Given the description of an element on the screen output the (x, y) to click on. 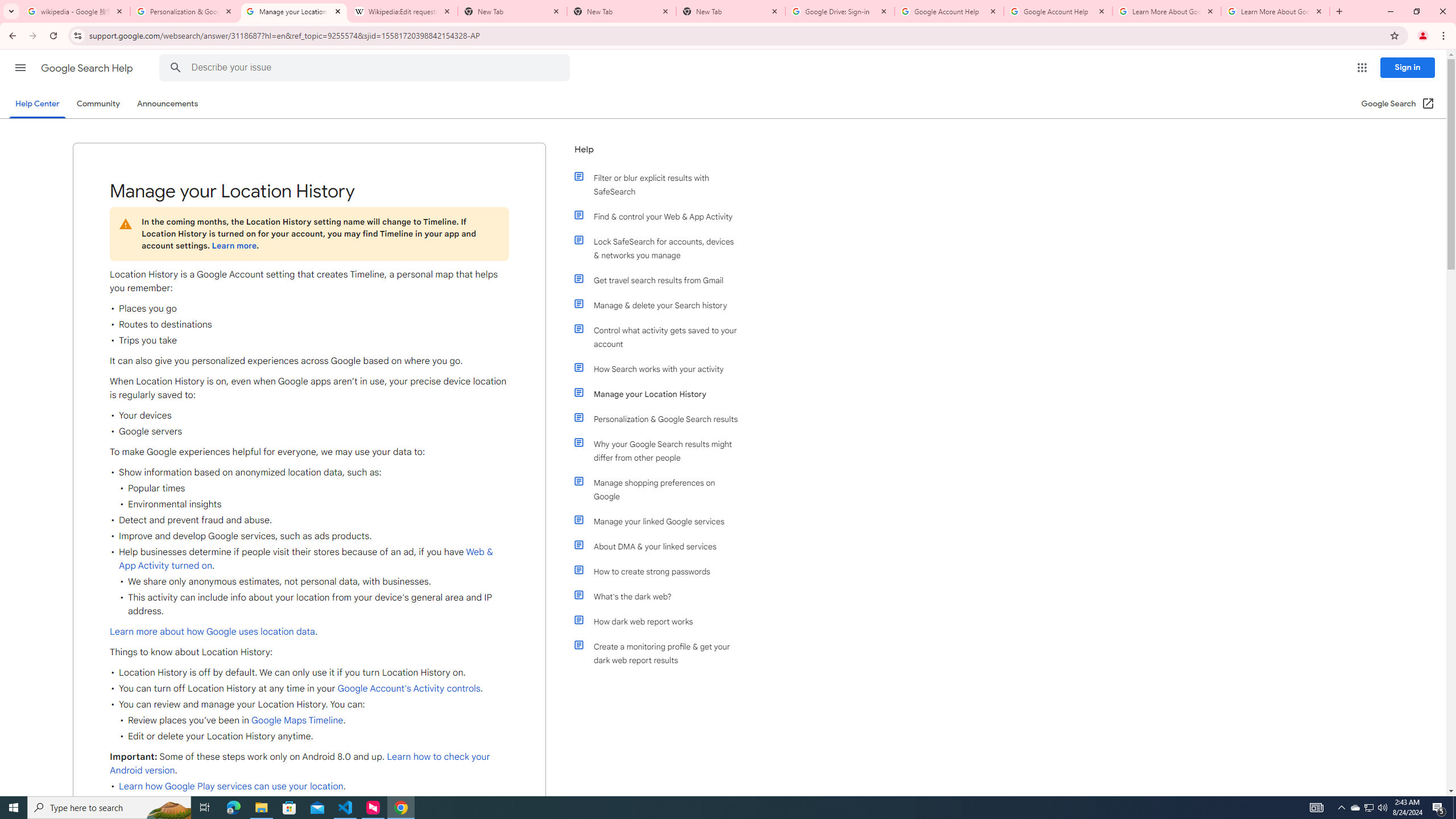
Control what activity gets saved to your account (661, 336)
Community (97, 103)
About DMA & your linked services (661, 546)
Personalization & Google Search results - Google Search Help (184, 11)
Google Drive: Sign-in (839, 11)
Lock SafeSearch for accounts, devices & networks you manage (661, 248)
Learn more about how Google uses location data (211, 631)
Help Center (36, 103)
Learn how to check your Android version (299, 763)
How Search works with your activity (661, 368)
